Given the description of an element on the screen output the (x, y) to click on. 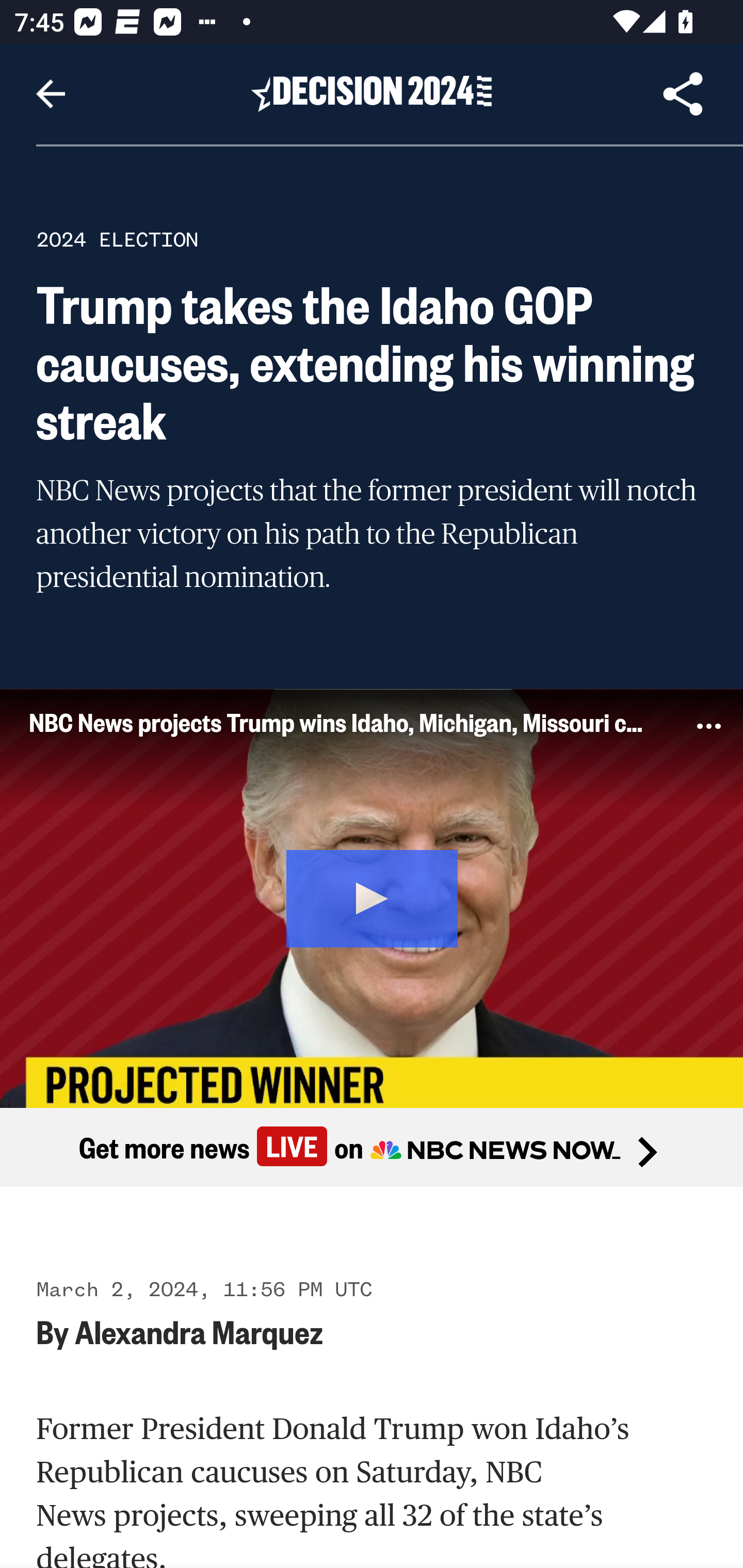
Navigate up (50, 93)
Share Article, button (683, 94)
Header, Decision 2024 (371, 93)
2024 ELECTION (117, 239)
Video Player Unable to play media. Play   (371, 897)
Get more news Live on Get more news Live on (371, 1147)
